Given the description of an element on the screen output the (x, y) to click on. 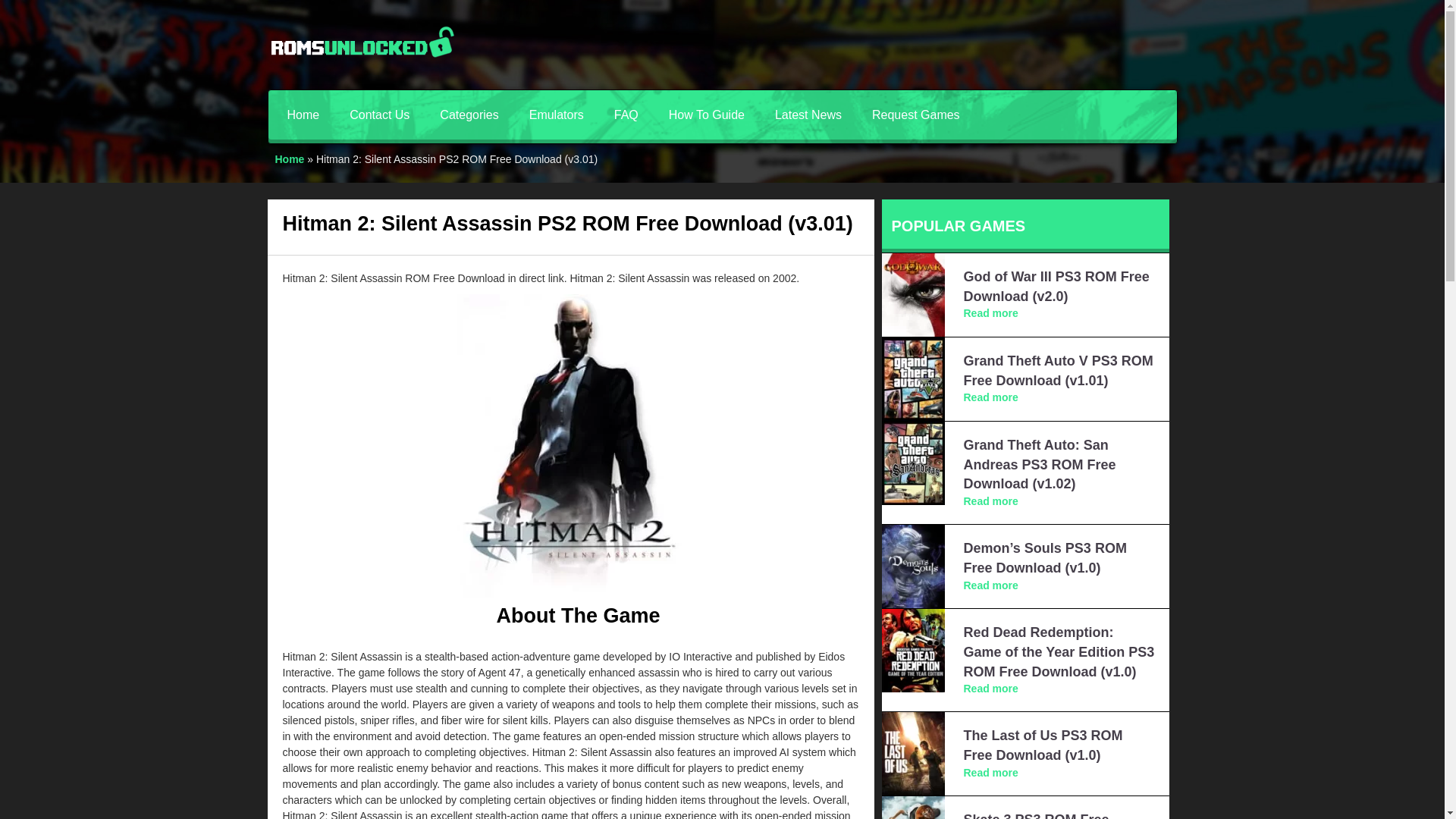
Home (302, 114)
Read more (989, 688)
FAQ (625, 114)
Contact Us (379, 114)
Home (289, 159)
Latest News (808, 114)
Emulators (555, 114)
Read more (989, 313)
Request Games (916, 114)
Categories (469, 114)
Read more (989, 772)
Read more (989, 585)
Read more (989, 500)
Read more (989, 397)
How To Guide (706, 114)
